Given the description of an element on the screen output the (x, y) to click on. 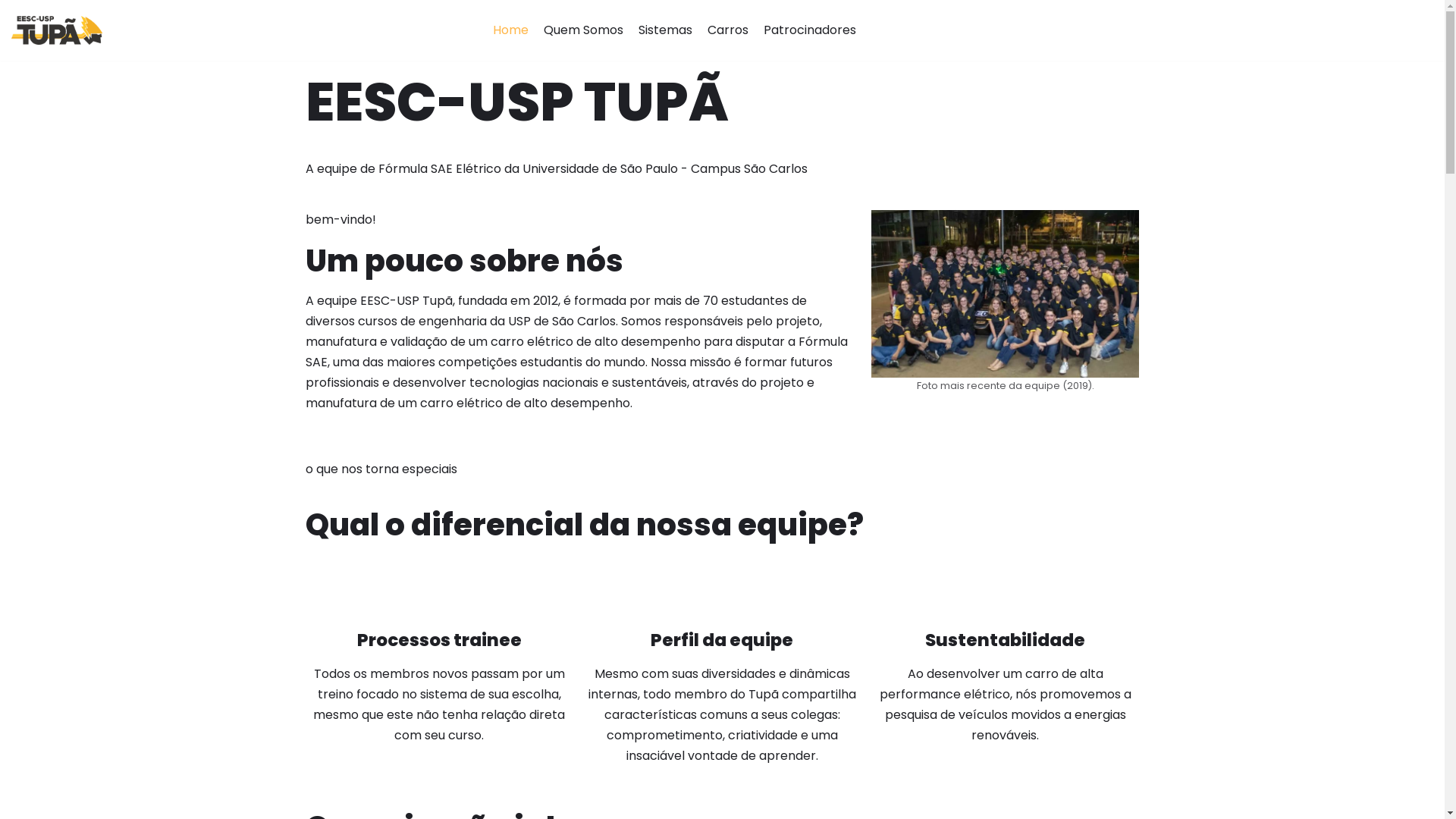
Carros Element type: text (727, 30)
Home Element type: text (510, 30)
Patrocinadores Element type: text (809, 30)
Quem Somos Element type: text (583, 30)
Sistemas Element type: text (665, 30)
